Given the description of an element on the screen output the (x, y) to click on. 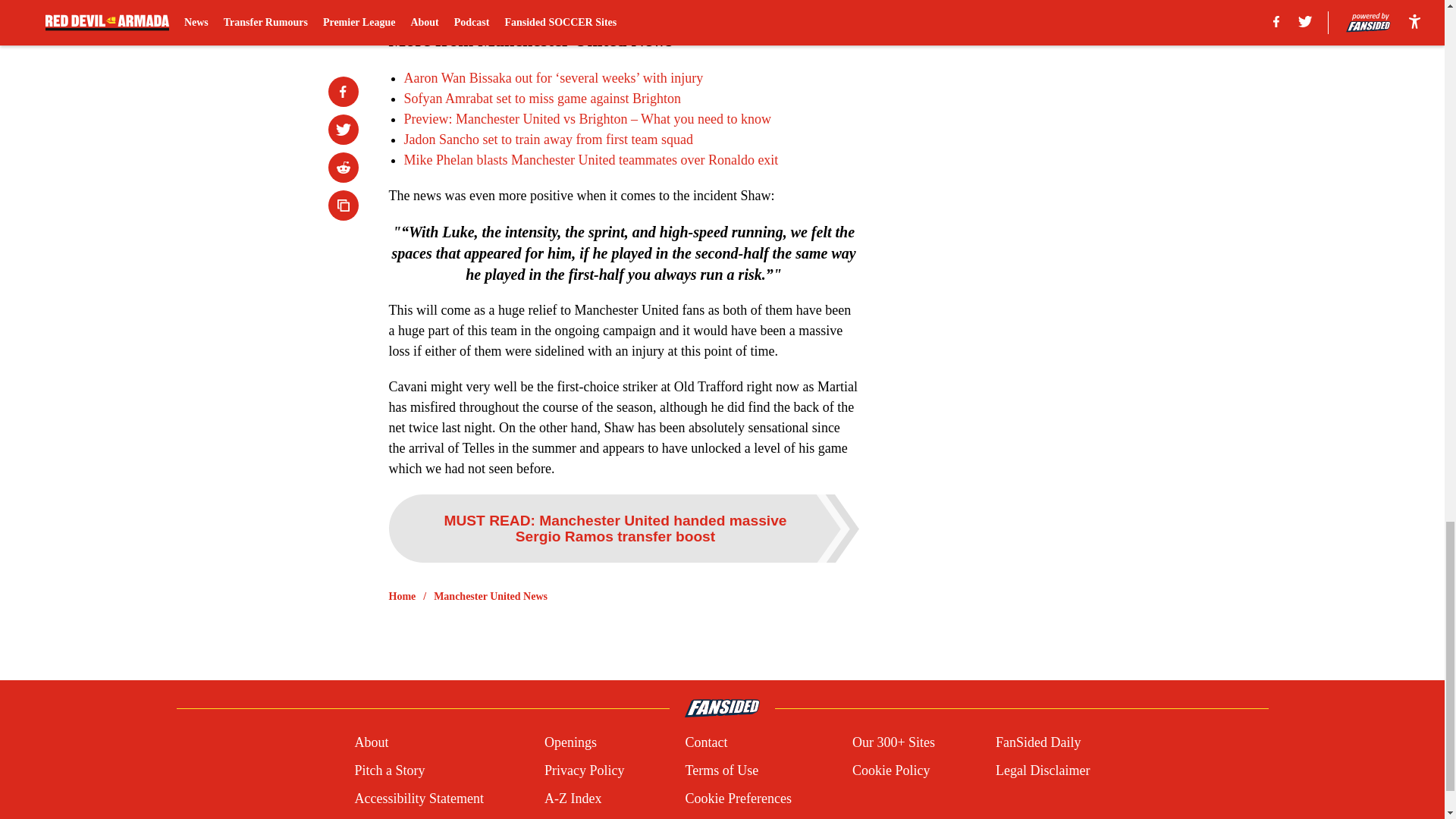
Pitch a Story (389, 770)
Sofyan Amrabat set to miss game against Brighton (541, 98)
Jadon Sancho set to train away from first team squad (548, 139)
Home (401, 596)
Manchester United News (490, 596)
Contact (705, 742)
Openings (570, 742)
Privacy Policy (584, 770)
Terms of Use (721, 770)
